Given the description of an element on the screen output the (x, y) to click on. 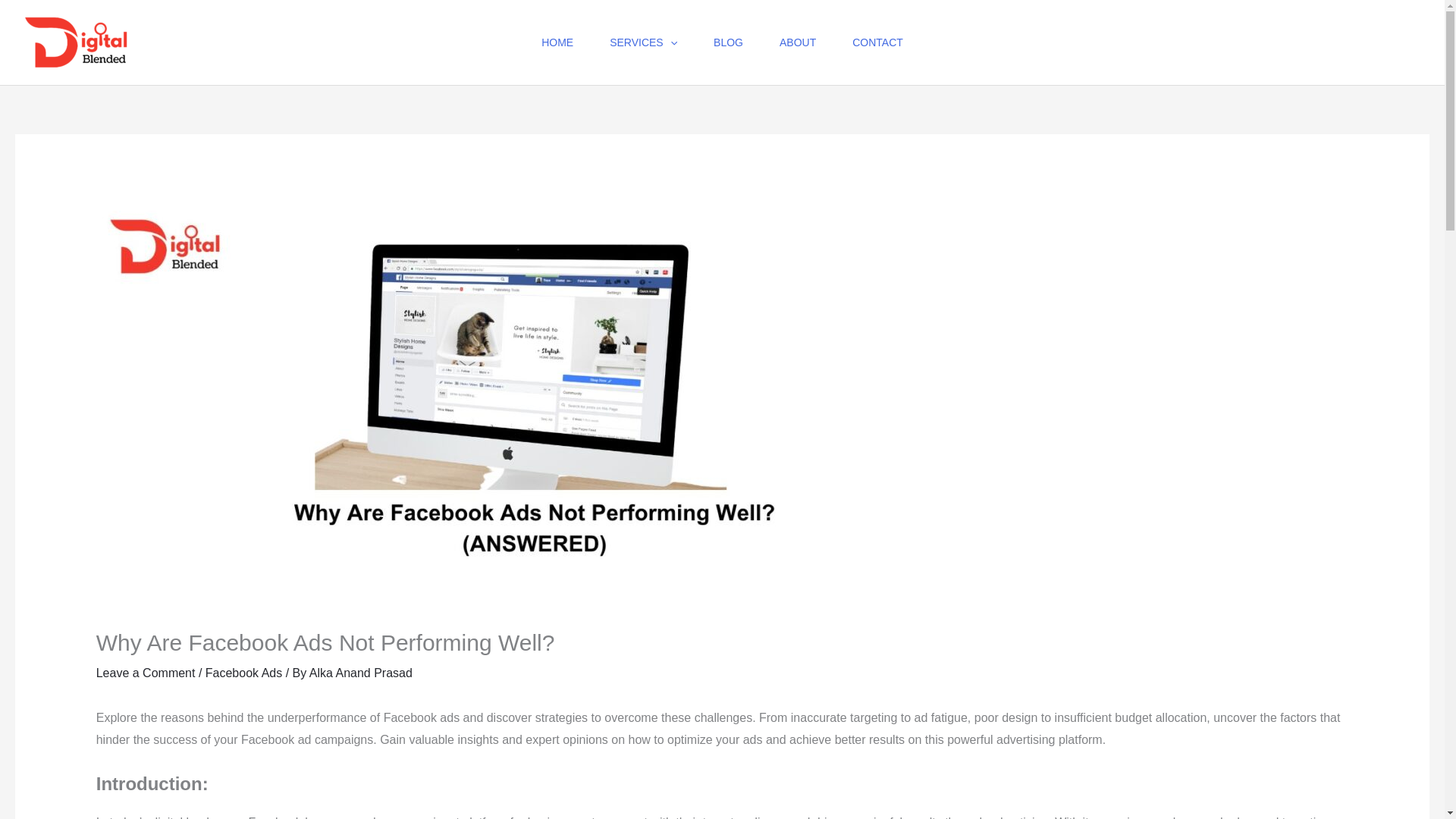
Alka Anand Prasad (360, 672)
Leave a Comment (145, 672)
SERVICES (643, 42)
ABOUT (797, 42)
Facebook Ads (243, 672)
CONTACT (877, 42)
View all posts by Alka Anand Prasad (360, 672)
